Given the description of an element on the screen output the (x, y) to click on. 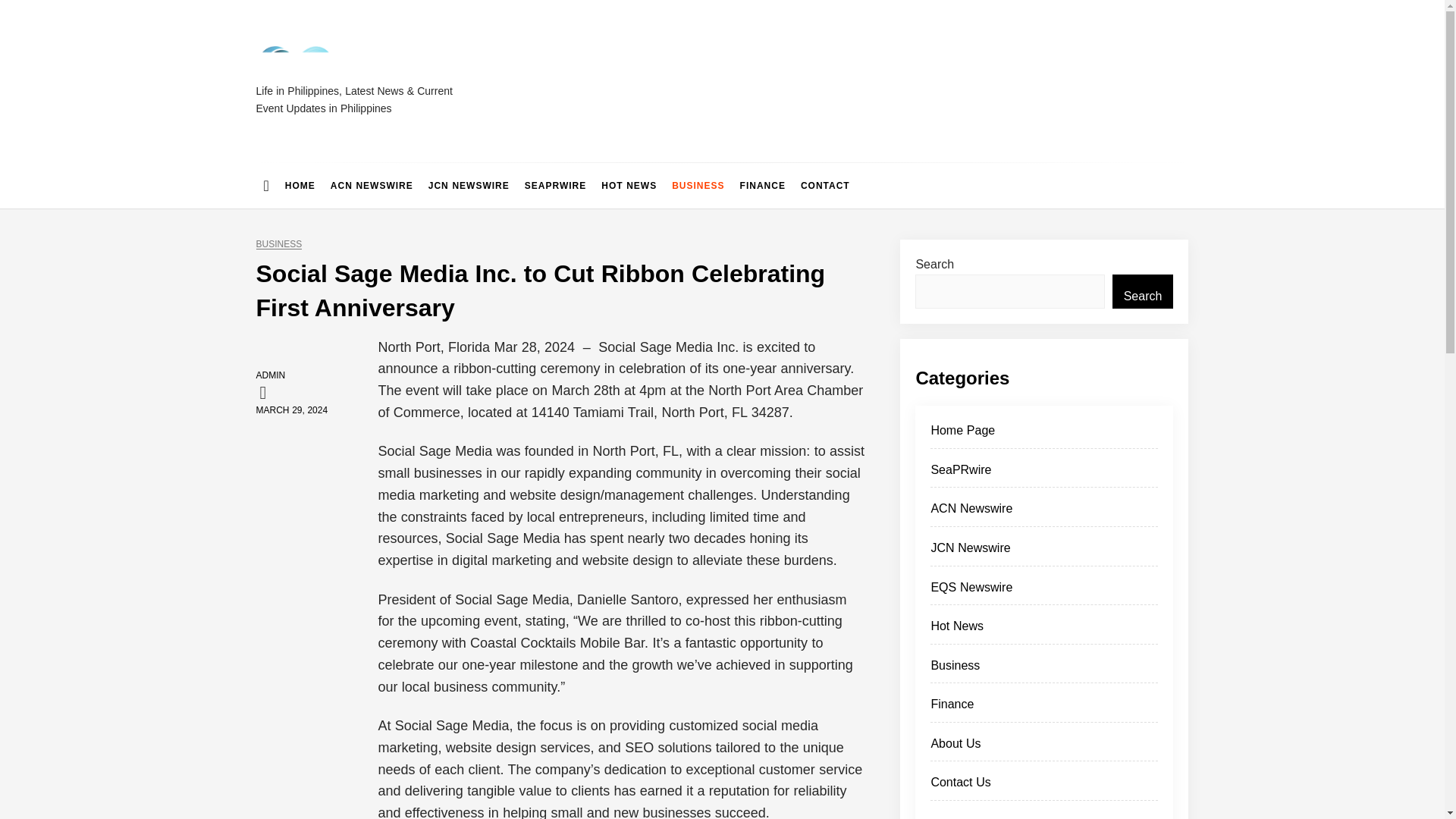
FINANCE (762, 185)
BUSINESS (697, 185)
JCN NEWSWIRE (468, 185)
Philippines New Look (389, 97)
ACN Newswire (1043, 512)
MARCH 29, 2024 (292, 409)
EQS Newswire (1043, 592)
CONTACT (825, 185)
ACN NEWSWIRE (371, 185)
ADMIN (270, 375)
